Given the description of an element on the screen output the (x, y) to click on. 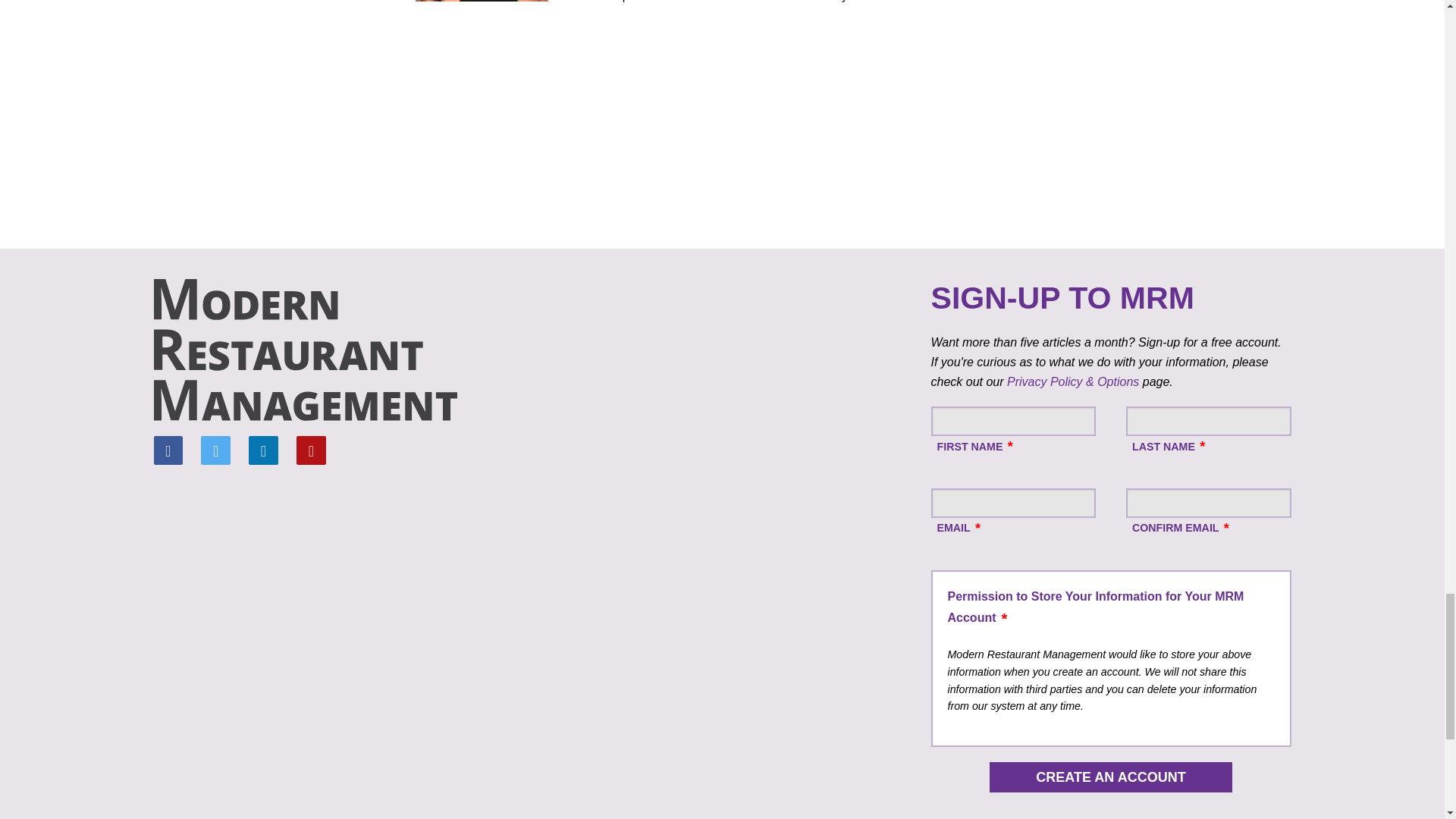
Create an Account (1110, 777)
Facebook (167, 450)
Youtube (310, 450)
Create an Account (1110, 777)
Twitter (215, 450)
Linkedin (263, 450)
